Given the description of an element on the screen output the (x, y) to click on. 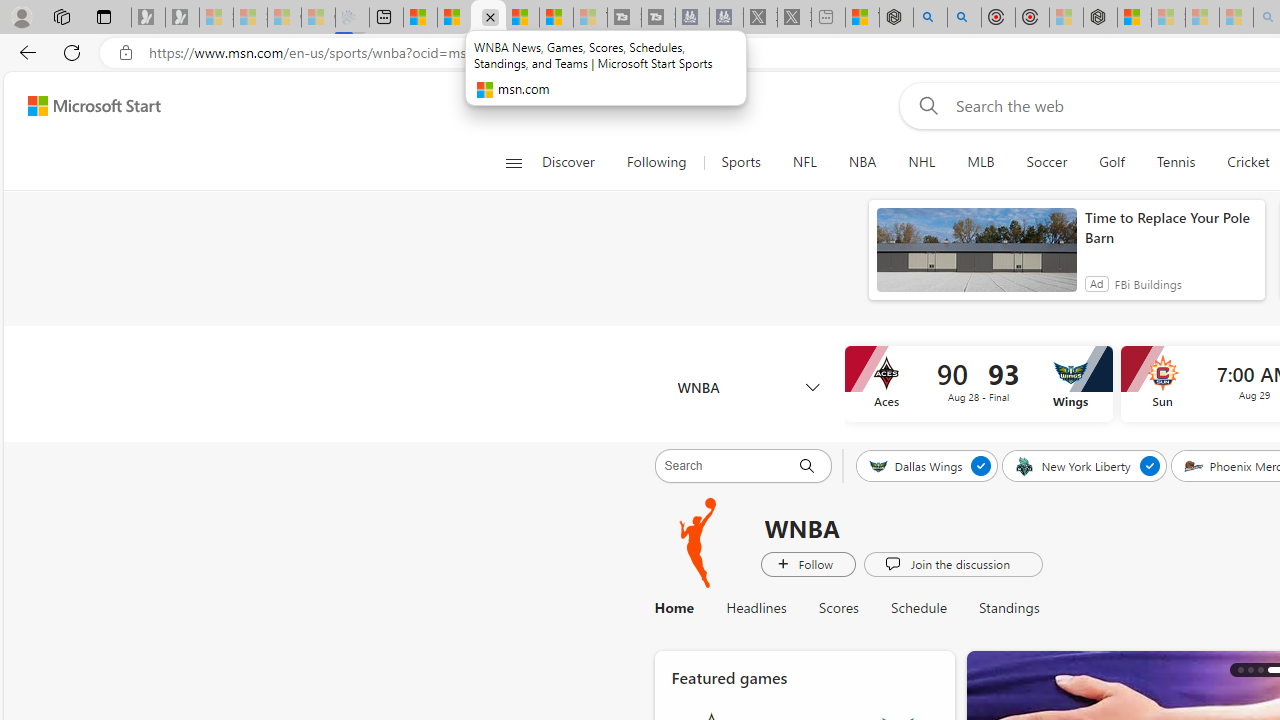
Soccer (1046, 162)
WNBA (748, 386)
Scores (838, 607)
Dallas Wings (916, 465)
Golf (1112, 162)
Sports (740, 162)
Headlines (756, 607)
Wildlife - MSN (862, 17)
Cricket (1248, 162)
